Given the description of an element on the screen output the (x, y) to click on. 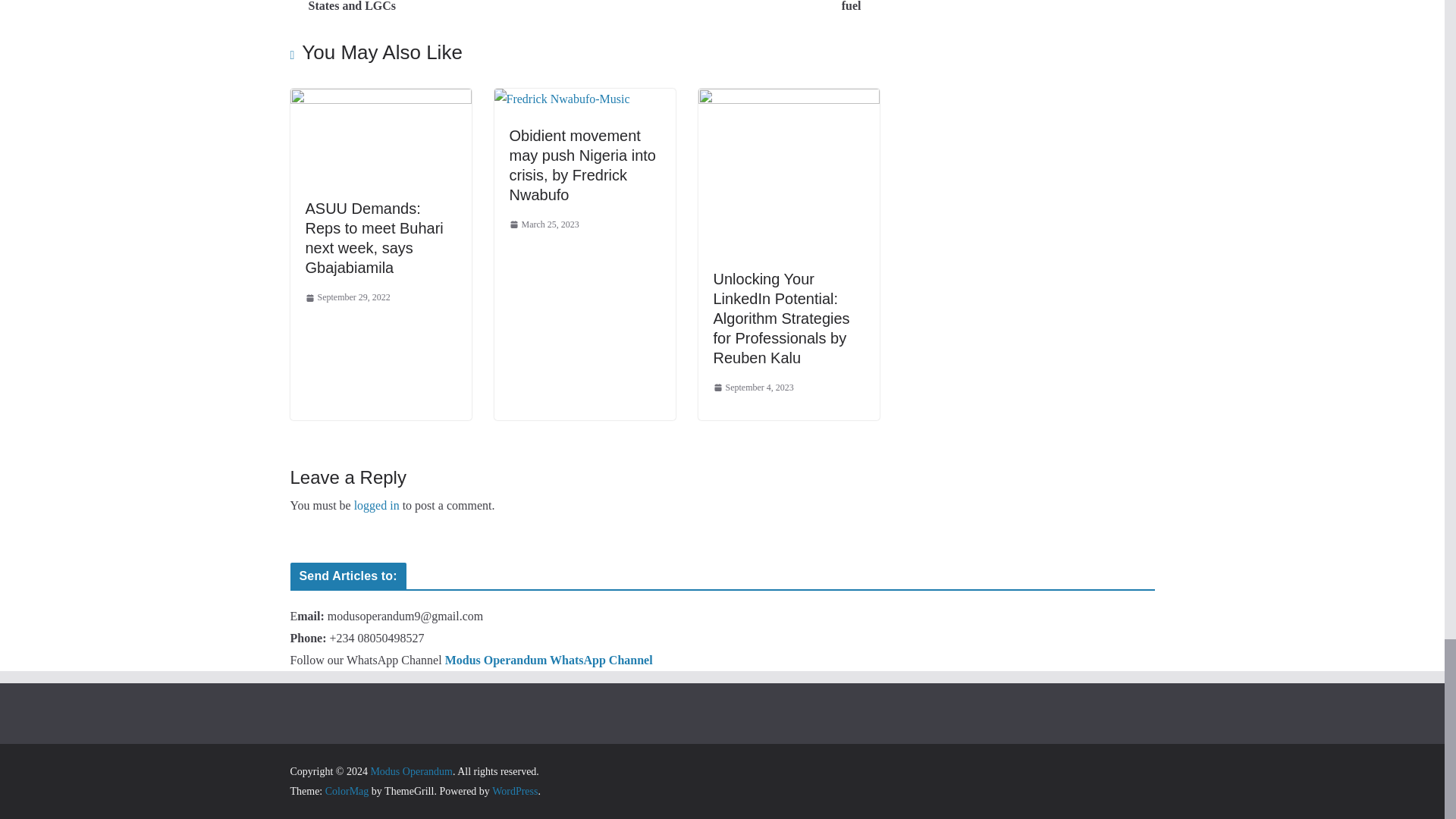
September 29, 2022 (347, 297)
September 4, 2023 (753, 388)
March 25, 2023 (544, 225)
OPC raises alarm over high cost of oil, gas, aviation fuel (735, 8)
